Given the description of an element on the screen output the (x, y) to click on. 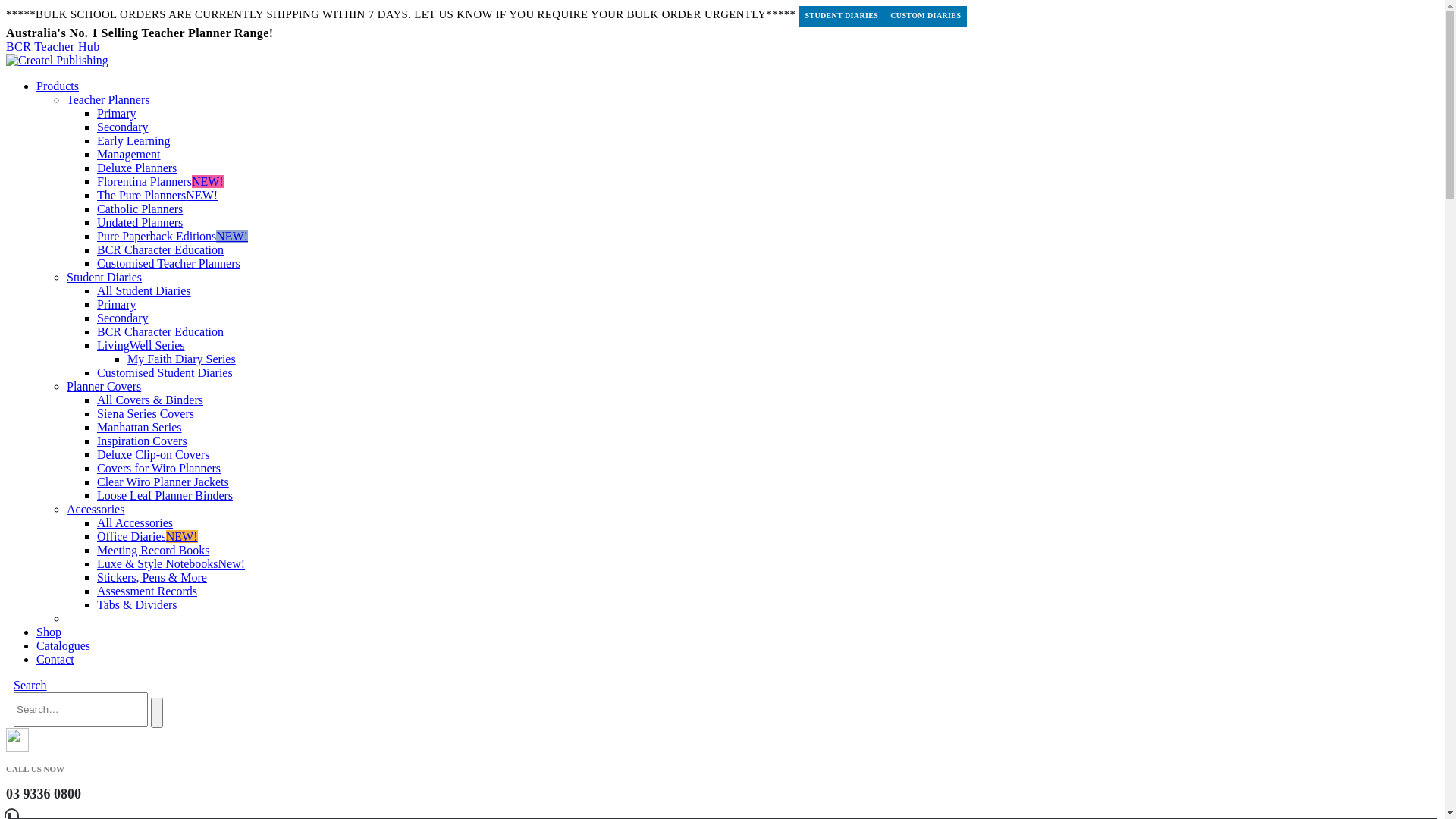
All Covers & Binders Element type: text (150, 399)
Deluxe Planners Element type: text (136, 167)
Catalogues Element type: text (63, 645)
Pure Paperback EditionsNEW! Element type: text (172, 235)
BCR Teacher Hub Element type: text (53, 46)
Loose Leaf Planner Binders Element type: text (164, 495)
BCR Character Education Element type: text (160, 249)
Secondary Element type: text (122, 317)
Clear Wiro Planner Jackets Element type: text (163, 481)
Contact Element type: text (55, 658)
Teacher Planners Element type: text (108, 99)
BCR Character Education Element type: text (160, 331)
Luxe & Style NotebooksNew! Element type: text (170, 563)
LivingWell Series Element type: text (141, 344)
Accessories Element type: text (95, 508)
Search Element type: hover (156, 712)
Assessment Records Element type: text (147, 590)
Covers for Wiro Planners Element type: text (158, 467)
Products Element type: text (57, 85)
Secondary Element type: text (122, 126)
Primary Element type: text (116, 112)
Catholic Planners Element type: text (139, 208)
Management Element type: text (128, 153)
Meeting Record Books Element type: text (153, 549)
Inspiration Covers Element type: text (142, 440)
Customised Teacher Planners Element type: text (168, 263)
Siena Series Covers Element type: text (145, 413)
Tabs & Dividers Element type: text (137, 604)
CUSTOM DIARIES Element type: text (925, 16)
STUDENT DIARIES Element type: text (841, 16)
Undated Planners Element type: text (139, 222)
Search Element type: text (30, 684)
Customised Student Diaries Element type: text (164, 372)
Early Learning Element type: text (133, 140)
Shop Element type: text (48, 631)
Manhattan Series Element type: text (139, 426)
Primary Element type: text (116, 304)
Student Diaries Element type: text (103, 276)
All Accessories Element type: text (134, 522)
Florentina PlannersNEW! Element type: text (160, 181)
The Pure PlannersNEW! Element type: text (157, 194)
Deluxe Clip-on Covers Element type: text (153, 454)
All Student Diaries Element type: text (144, 290)
Createl Publishing - Planning for Success Element type: hover (57, 59)
Stickers, Pens & More Element type: text (152, 577)
Office DiariesNEW! Element type: text (147, 536)
My Faith Diary Series Element type: text (181, 358)
Planner Covers Element type: text (103, 385)
